Given the description of an element on the screen output the (x, y) to click on. 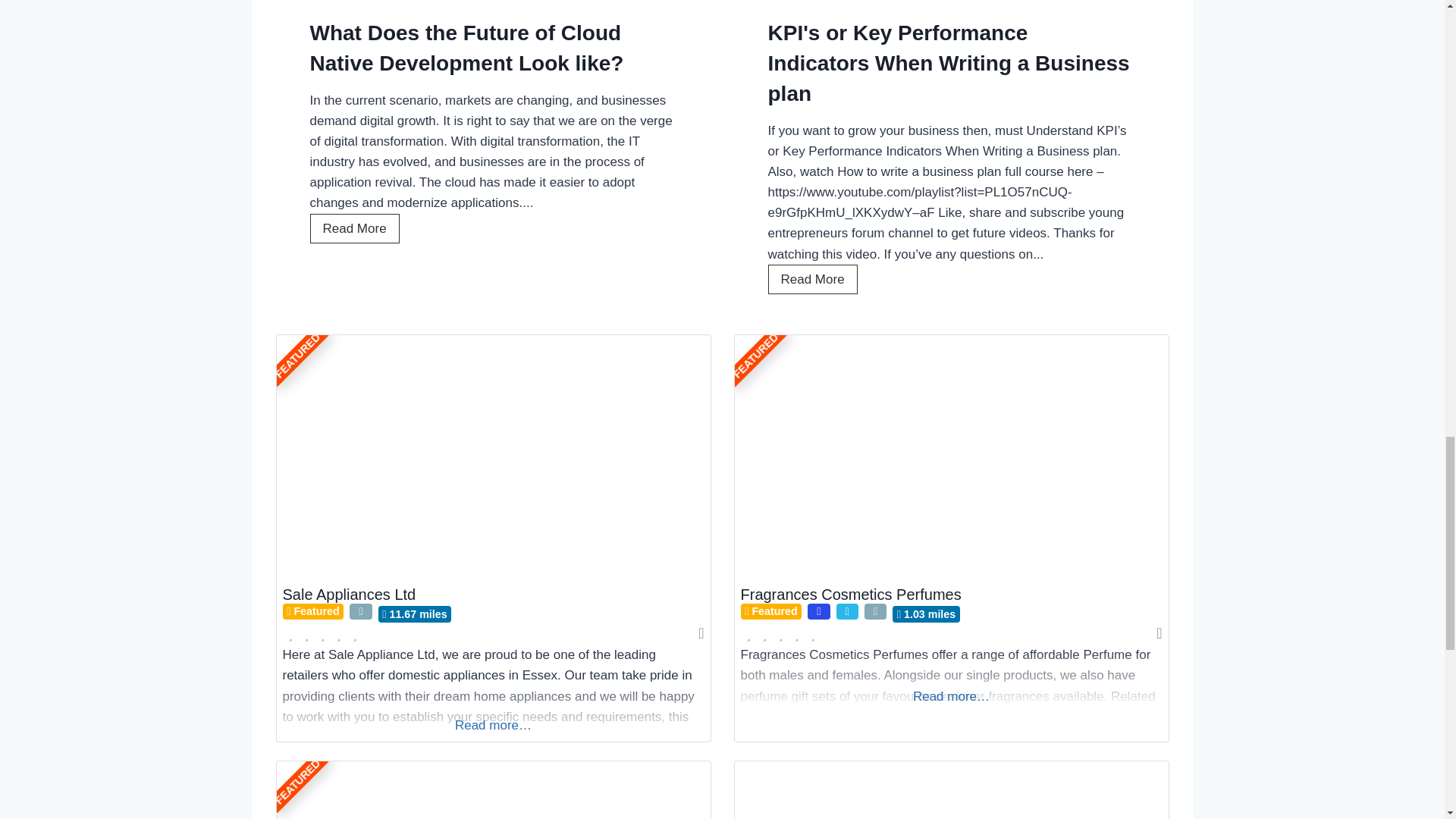
Distance from the current listing, click for directions. (925, 613)
View: Sale Appliances Ltd (348, 594)
View: Fragrances Cosmetics Perfumes (849, 594)
Distance from the current listing, click for directions. (414, 613)
No rating yet! (322, 634)
dfdsha (950, 790)
No rating yet! (780, 634)
